Given the description of an element on the screen output the (x, y) to click on. 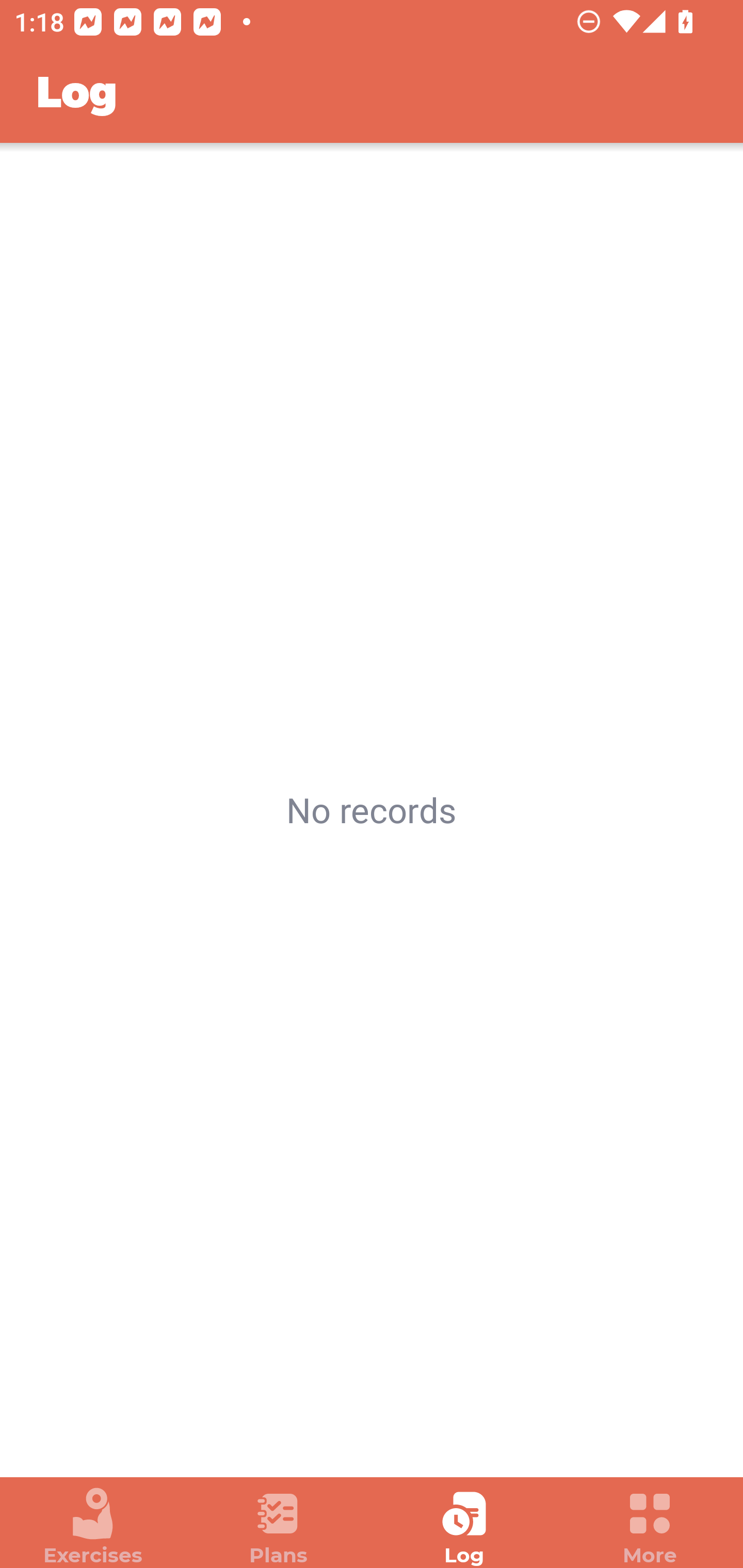
Exercises (92, 1527)
Plans (278, 1527)
Log (464, 1527)
More (650, 1527)
